Given the description of an element on the screen output the (x, y) to click on. 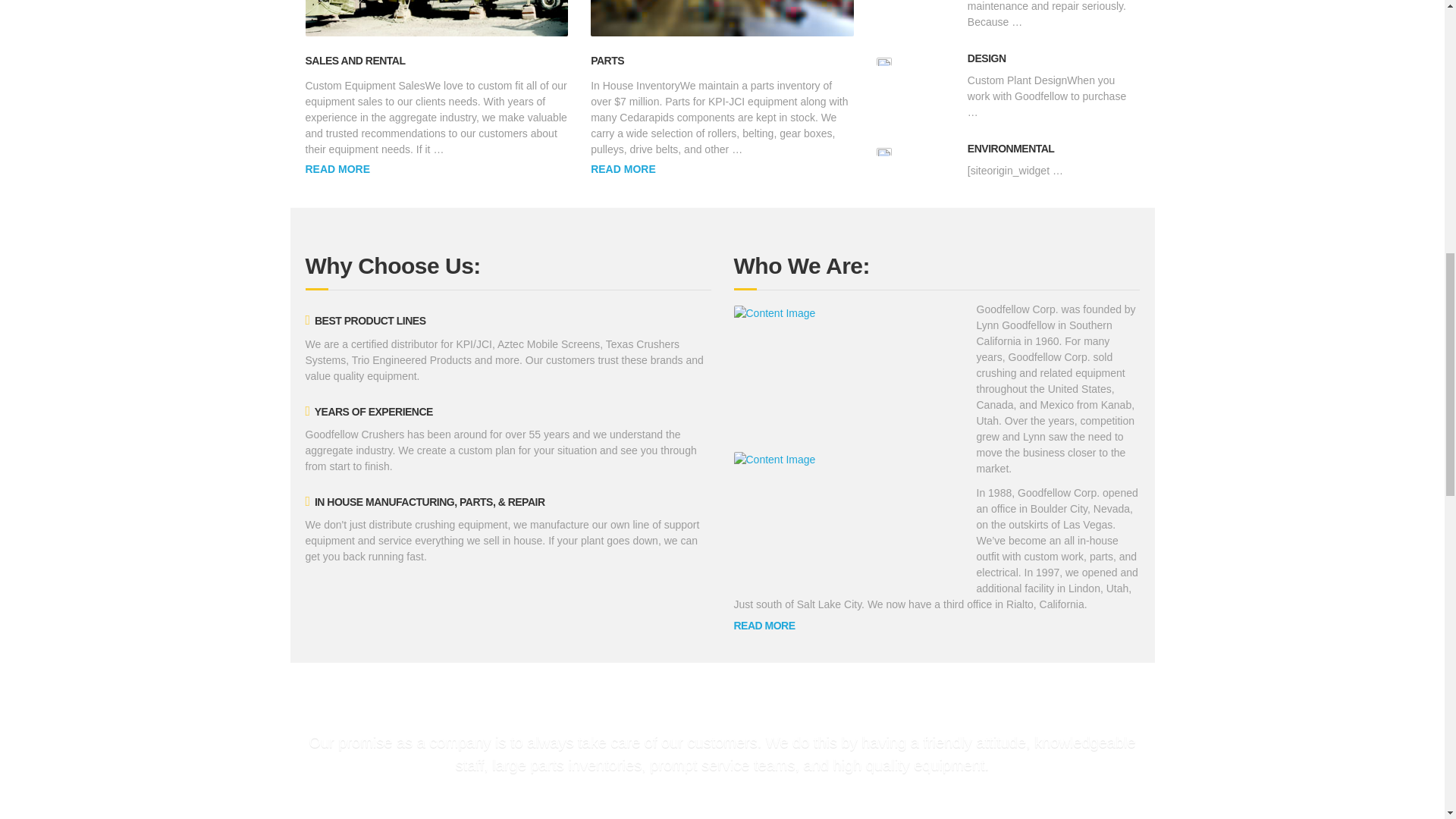
READ MORE (336, 169)
PARTS (607, 60)
SALES AND RENTAL (354, 60)
